Given the description of an element on the screen output the (x, y) to click on. 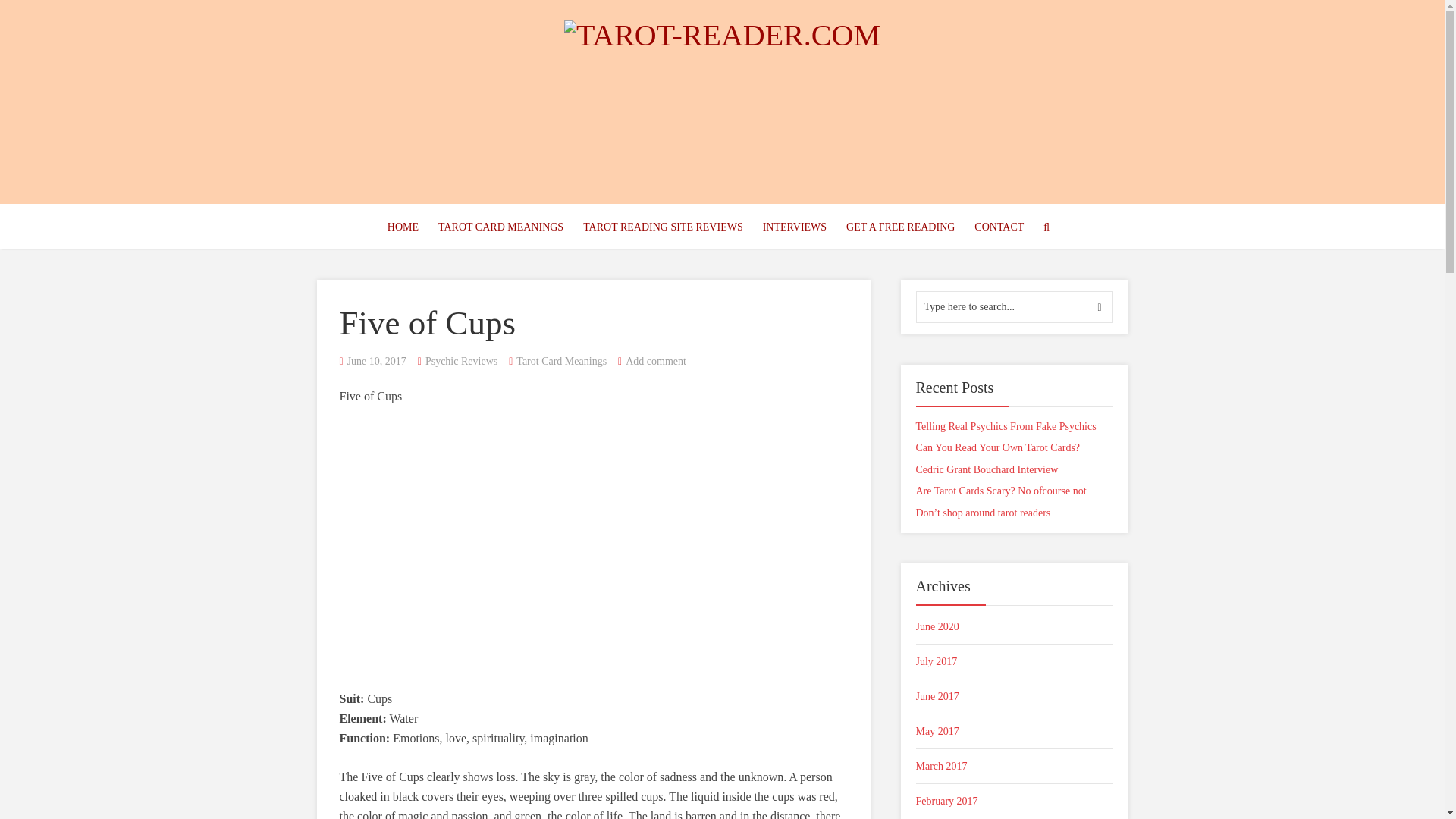
Telling Real Psychics From Fake Psychics (1005, 426)
Are Tarot Cards Scary? No ofcourse not (1000, 490)
June 2017 (1014, 696)
March 2017 (1014, 765)
GET A FREE READING (900, 227)
Tarot Card Meanings (561, 360)
CONTACT (999, 227)
Can You Read Your Own Tarot Cards? (997, 447)
Tarot-Reader.com (722, 32)
INTERVIEWS (794, 227)
